Given the description of an element on the screen output the (x, y) to click on. 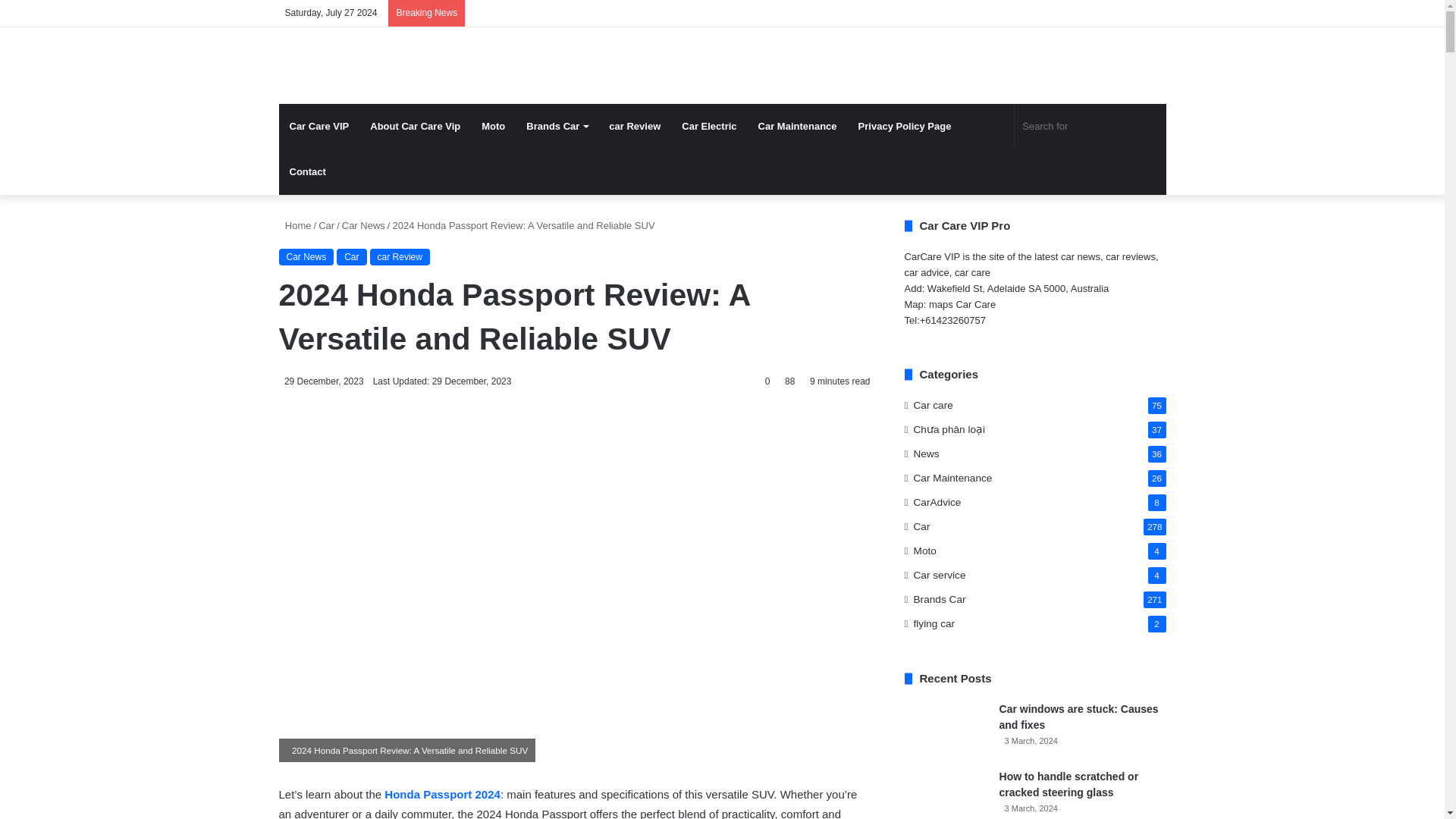
Search for (1090, 126)
Moto (492, 126)
car Review (634, 126)
Car Maintenance (797, 126)
Brands Car (556, 126)
Privacy Policy Page (904, 126)
About Car Care Vip (414, 126)
Car Care VIP (319, 126)
Car Electric (708, 126)
Contact (307, 171)
